Given the description of an element on the screen output the (x, y) to click on. 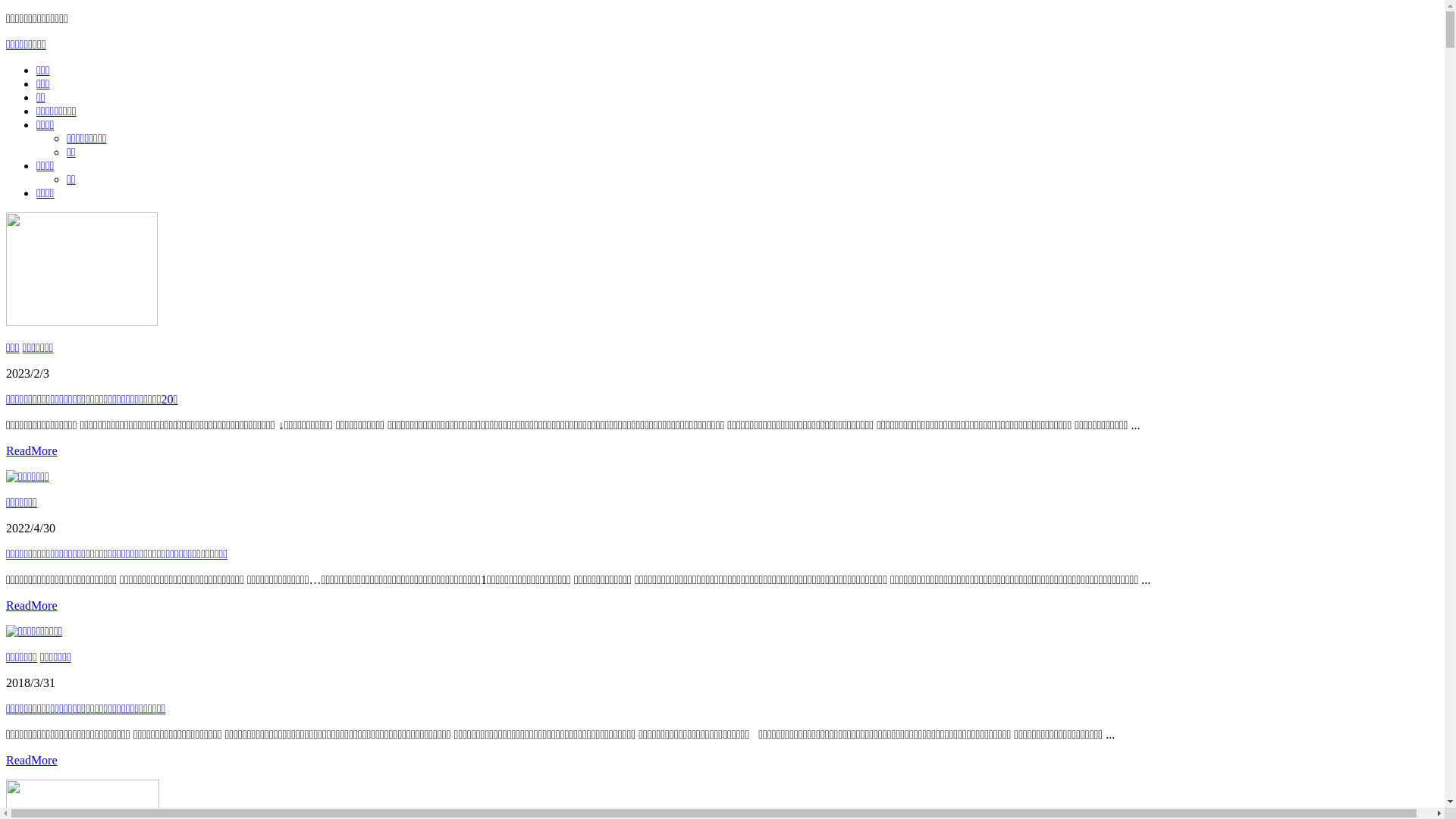
ReadMore Element type: text (31, 450)
ReadMore Element type: text (31, 605)
ReadMore Element type: text (31, 759)
